Given the description of an element on the screen output the (x, y) to click on. 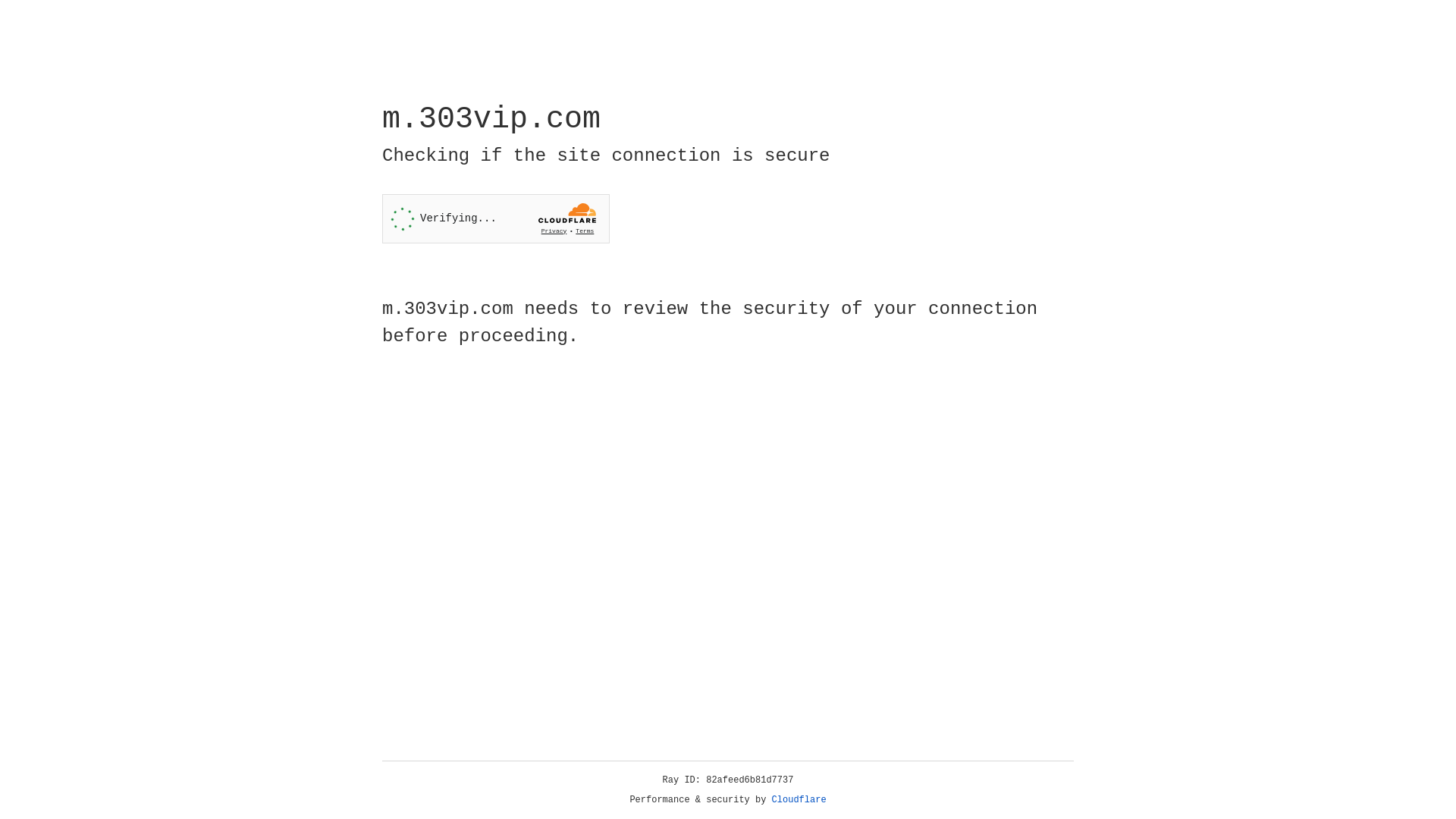
Widget containing a Cloudflare security challenge Element type: hover (495, 218)
Cloudflare Element type: text (798, 799)
